Given the description of an element on the screen output the (x, y) to click on. 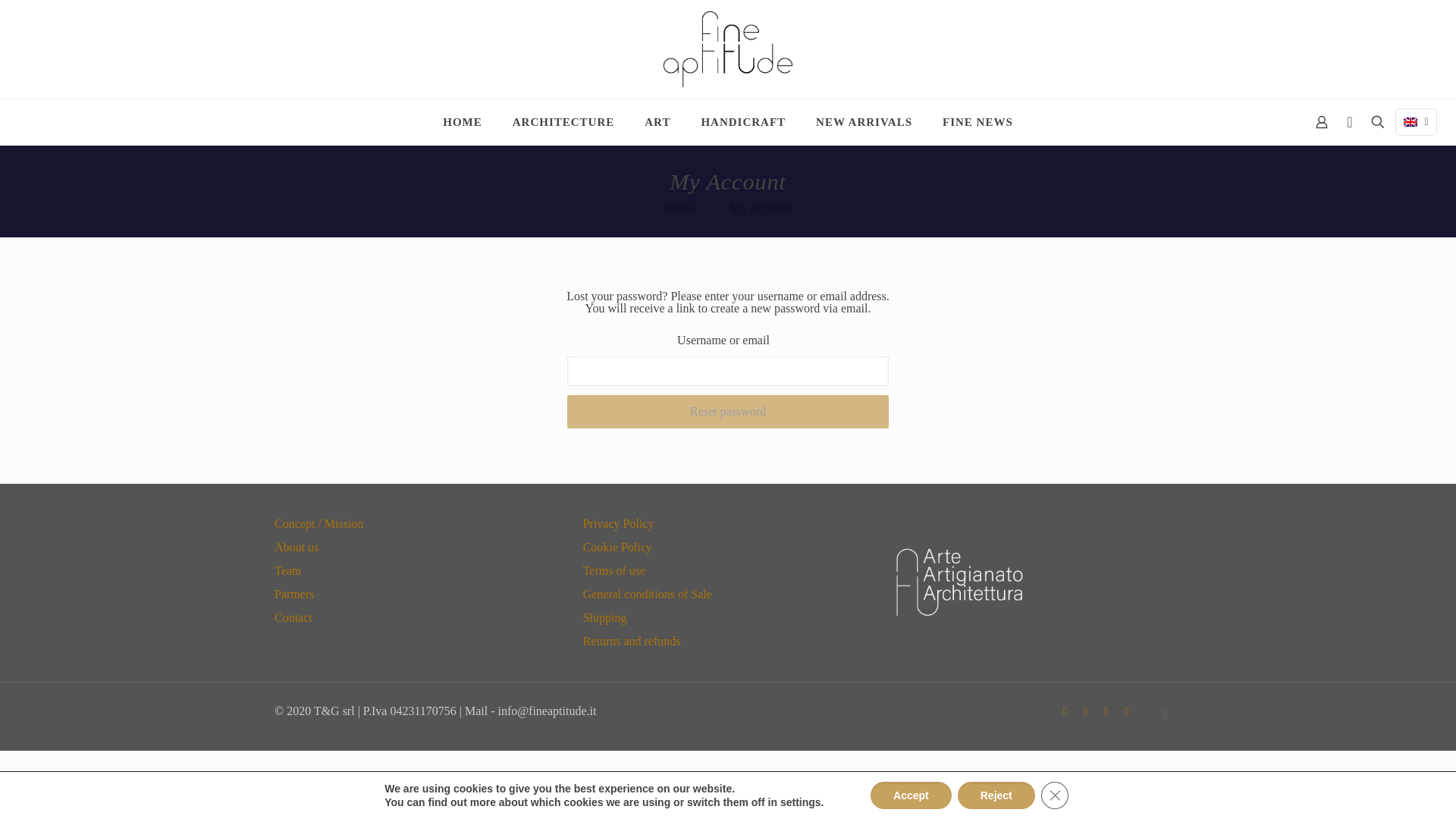
Cookie Policy (617, 546)
Team (288, 570)
Facebook (1065, 711)
YouTube (1085, 711)
ARCHITECTURE (563, 121)
NEW ARRIVALS (863, 121)
About us (296, 546)
Terms of use (614, 570)
Partners (294, 594)
Privacy Policy (618, 522)
